Given the description of an element on the screen output the (x, y) to click on. 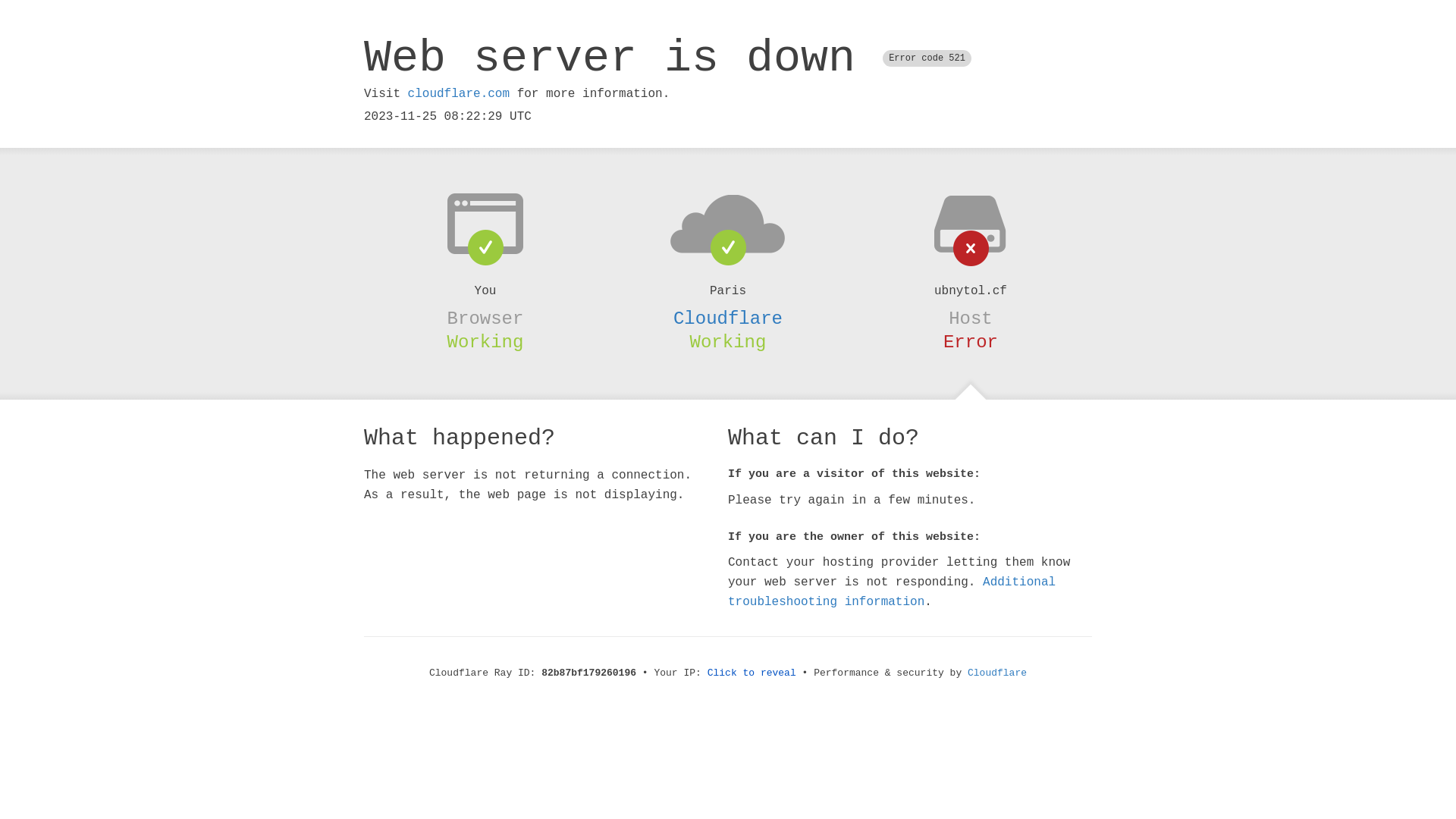
Cloudflare Element type: text (727, 318)
cloudflare.com Element type: text (458, 93)
Click to reveal Element type: text (751, 672)
Cloudflare Element type: text (996, 672)
Additional troubleshooting information Element type: text (891, 591)
